Given the description of an element on the screen output the (x, y) to click on. 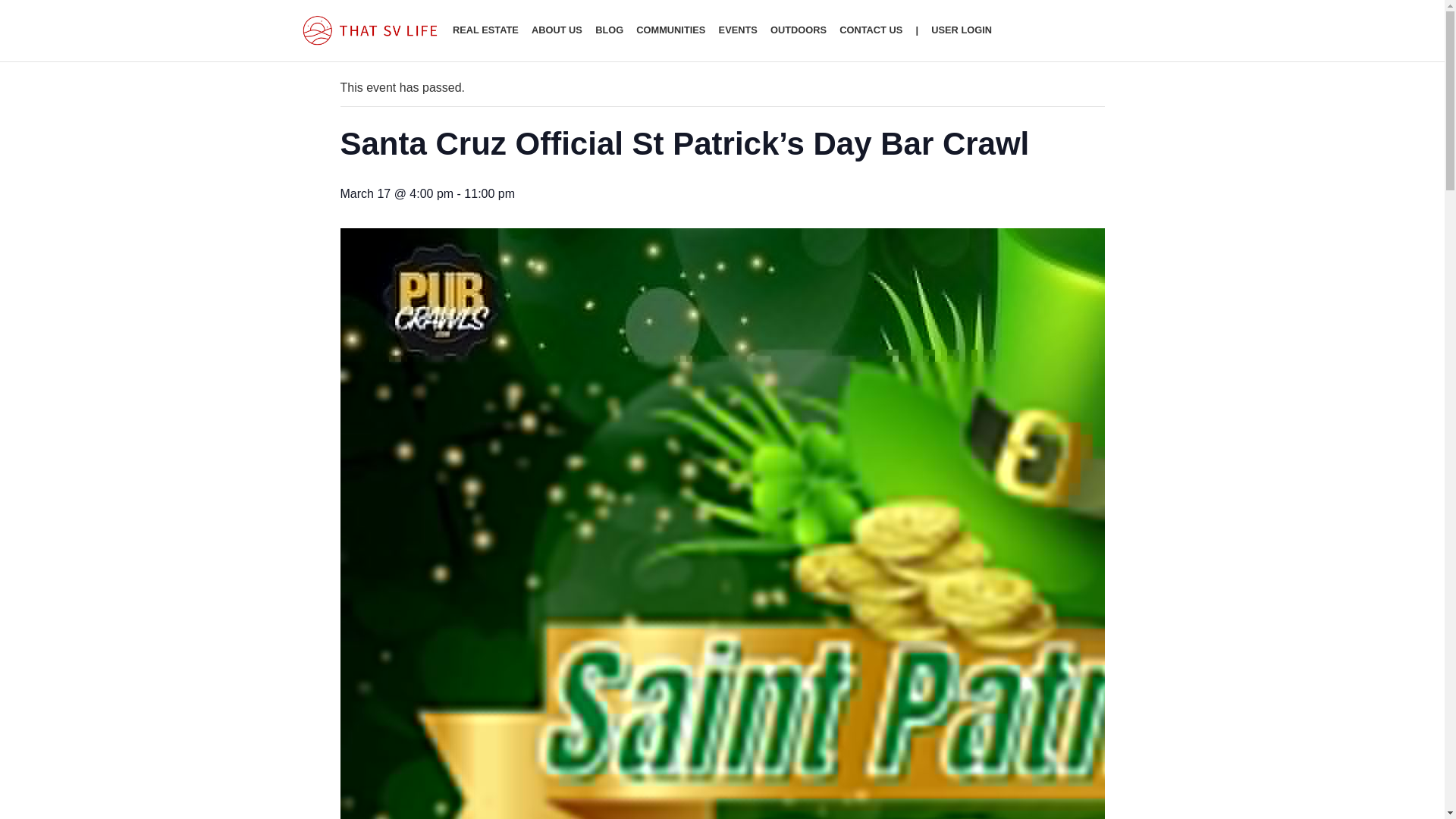
ABOUT US (556, 31)
USER LOGIN (961, 31)
EVENTS (738, 31)
CONTACT US (871, 31)
OUTDOORS (798, 31)
BLOG (609, 31)
REAL ESTATE (485, 31)
COMMUNITIES (670, 31)
